Given the description of an element on the screen output the (x, y) to click on. 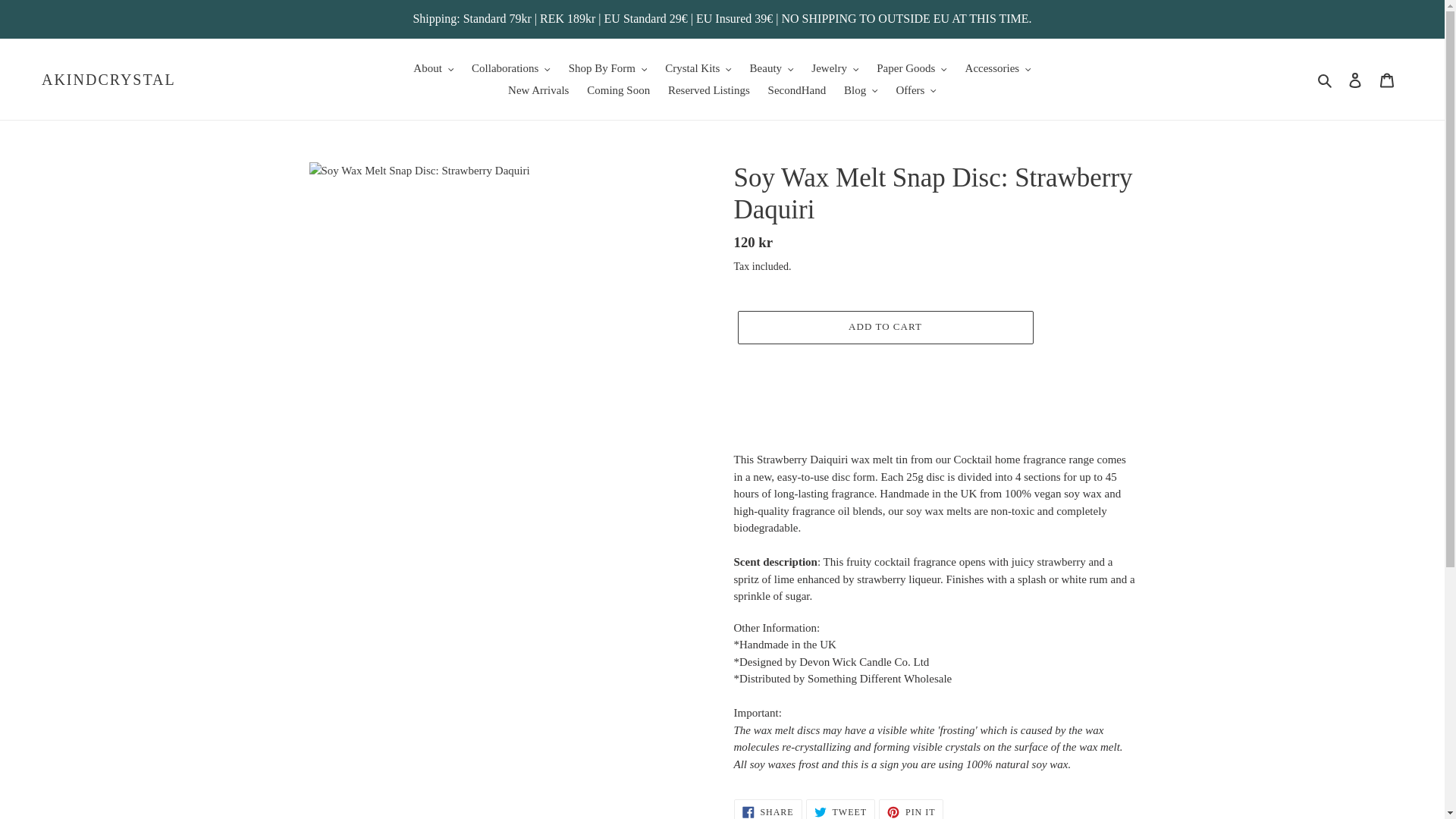
About (433, 68)
Collaborations (510, 68)
Shop By Form (607, 68)
AKINDCRYSTAL (109, 78)
